Given the description of an element on the screen output the (x, y) to click on. 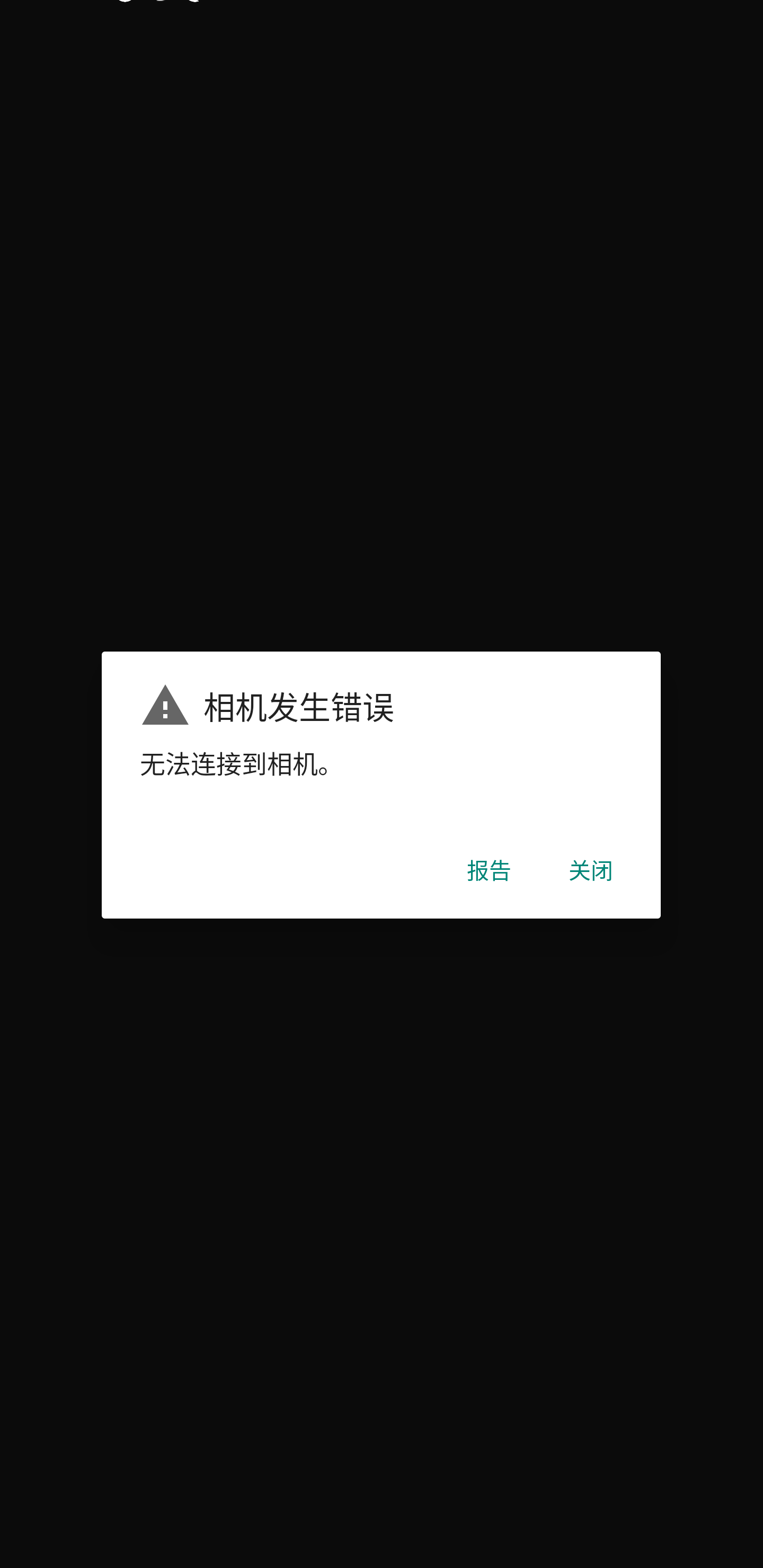
报告 (488, 875)
关闭 (590, 875)
